Given the description of an element on the screen output the (x, y) to click on. 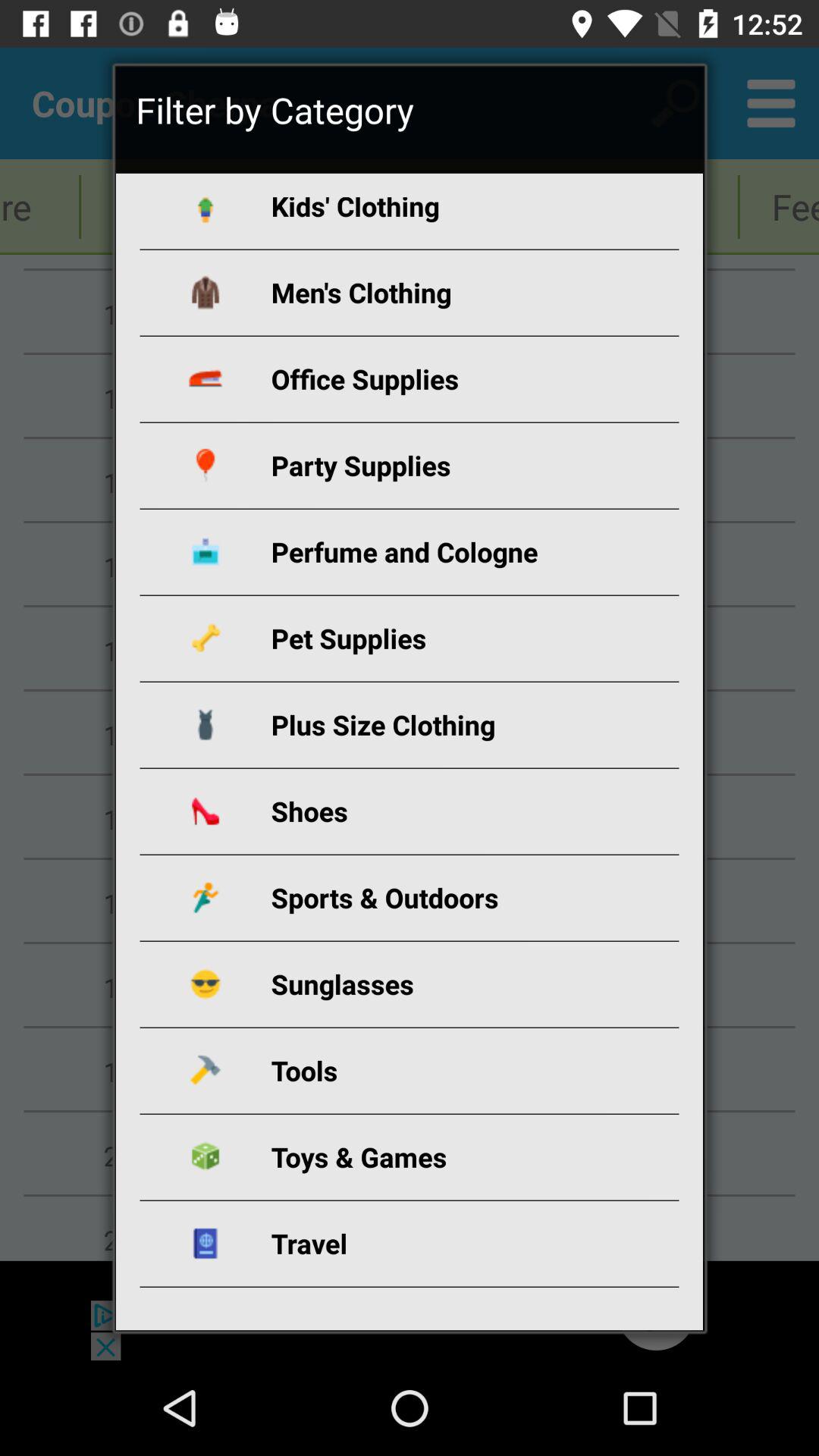
click the item below the party supplies (427, 551)
